Given the description of an element on the screen output the (x, y) to click on. 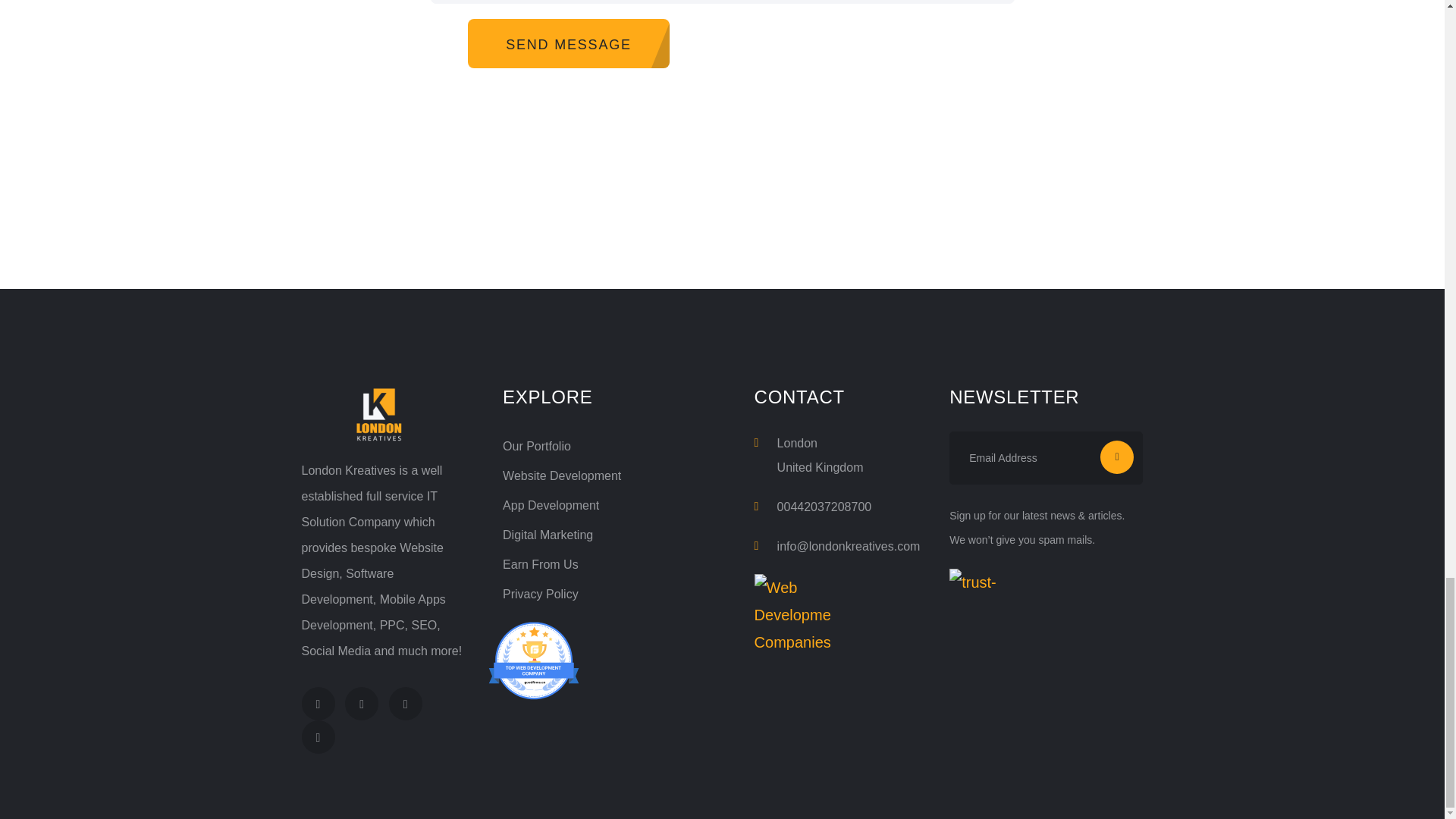
Web Development Companies (791, 612)
Digital Marketing (547, 534)
00442037208700 (824, 506)
SEND MESSAGE (568, 42)
App Development (550, 504)
Privacy Policy (540, 594)
Our Portfolio (536, 445)
Website Development (561, 475)
Earn From Us (540, 563)
